Given the description of an element on the screen output the (x, y) to click on. 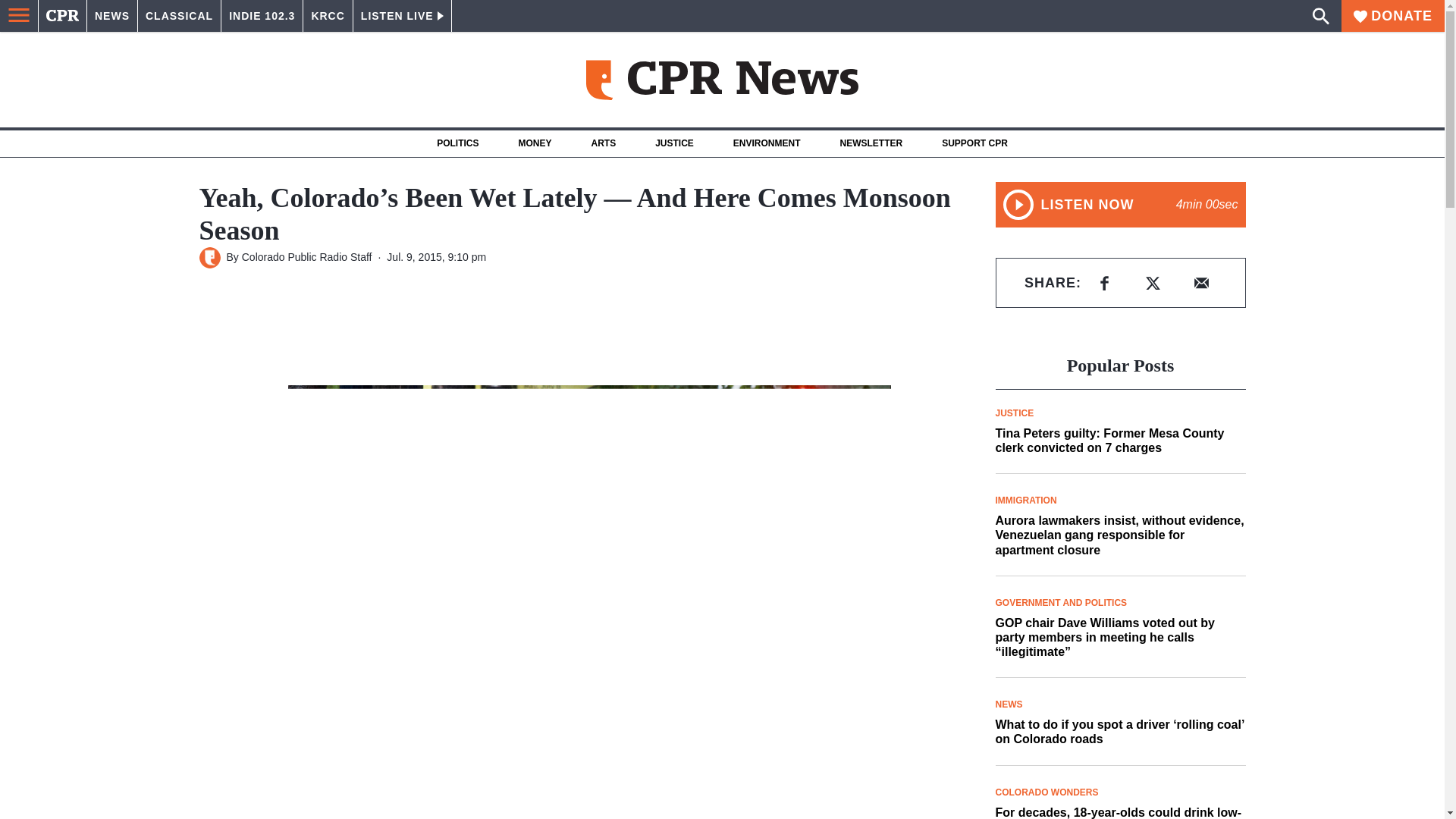
NEWS (111, 15)
CLASSICAL (179, 15)
KRCC (327, 15)
LISTEN LIVE (402, 15)
INDIE 102.3 (261, 15)
